Given the description of an element on the screen output the (x, y) to click on. 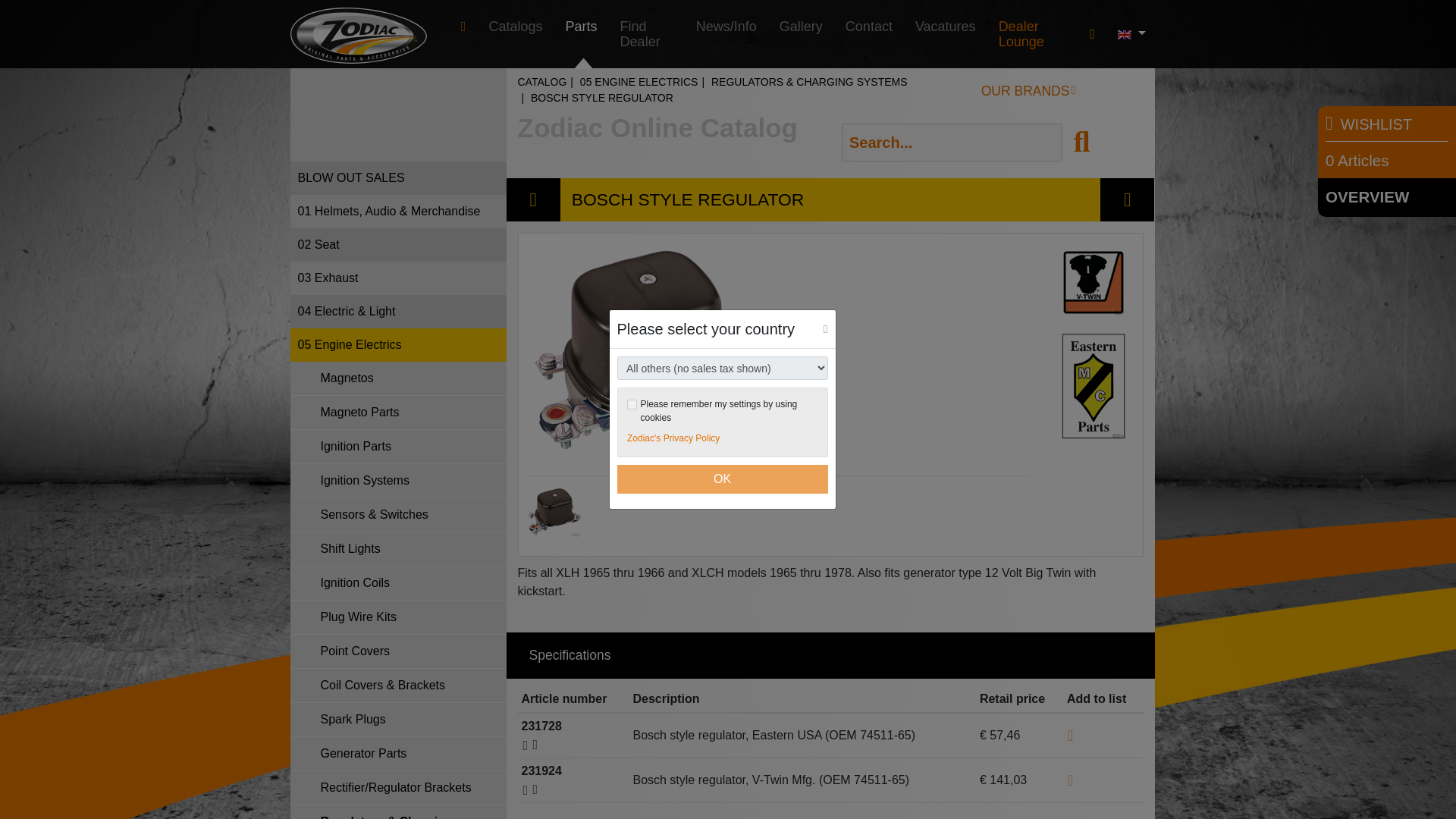
05 Engine Electrics (397, 344)
Go to 02 Seat (397, 244)
Ignition Coils (397, 583)
Spark Plugs (397, 719)
Catalogs (515, 26)
Contact (869, 26)
Gallery (801, 26)
Shift Lights (397, 549)
Logo (357, 35)
Magnetos (397, 378)
Plug Wire Kits (397, 617)
Generator Parts (397, 754)
Dealer Lounge (1032, 33)
Magneto Parts (397, 412)
02 Seat (397, 244)
